Given the description of an element on the screen output the (x, y) to click on. 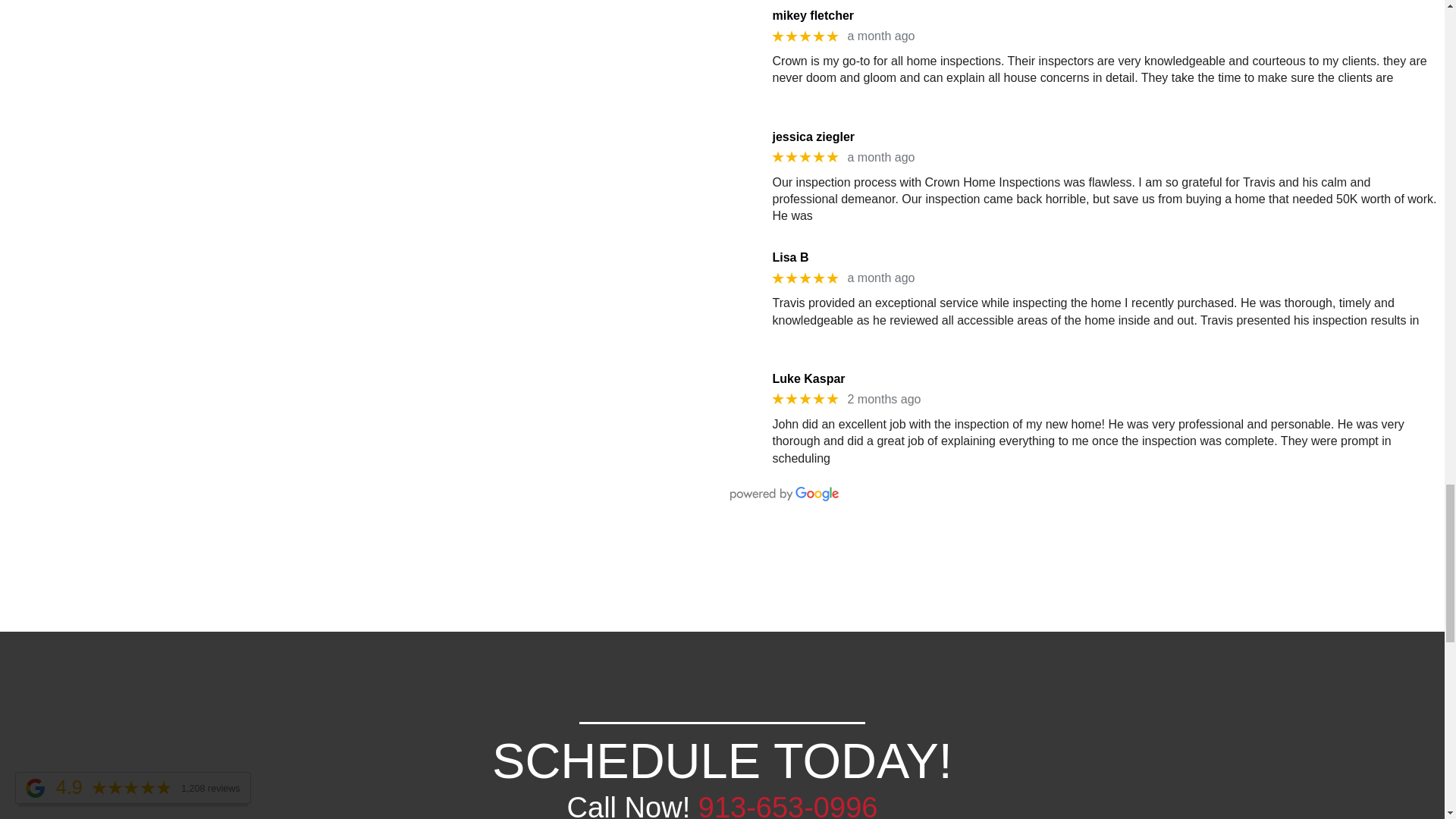
Powered by Google (783, 493)
